Given the description of an element on the screen output the (x, y) to click on. 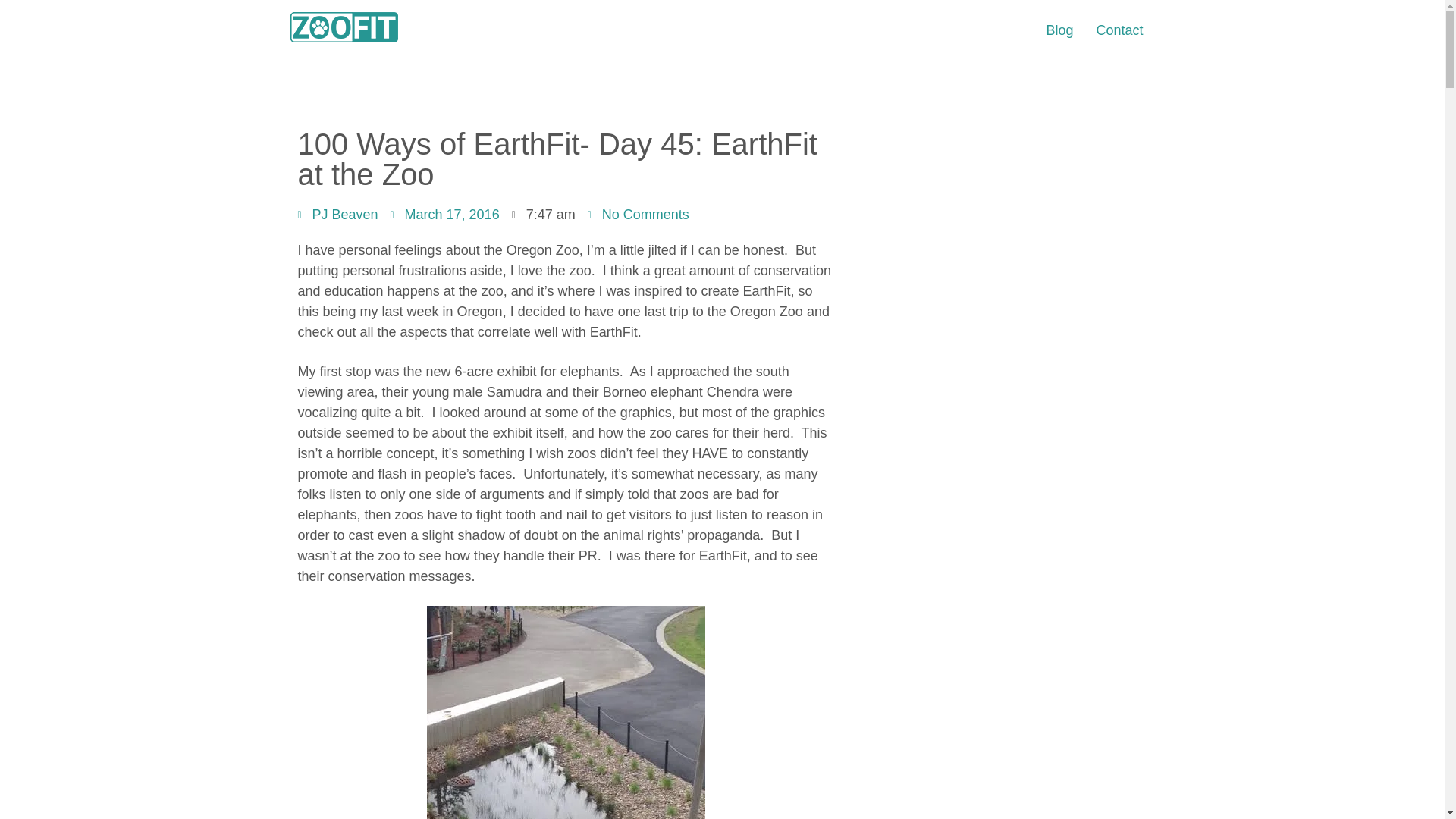
March 17, 2016 (444, 214)
No Comments (638, 214)
Contact (1119, 29)
Blog (1058, 29)
PJ Beaven (337, 214)
